Given the description of an element on the screen output the (x, y) to click on. 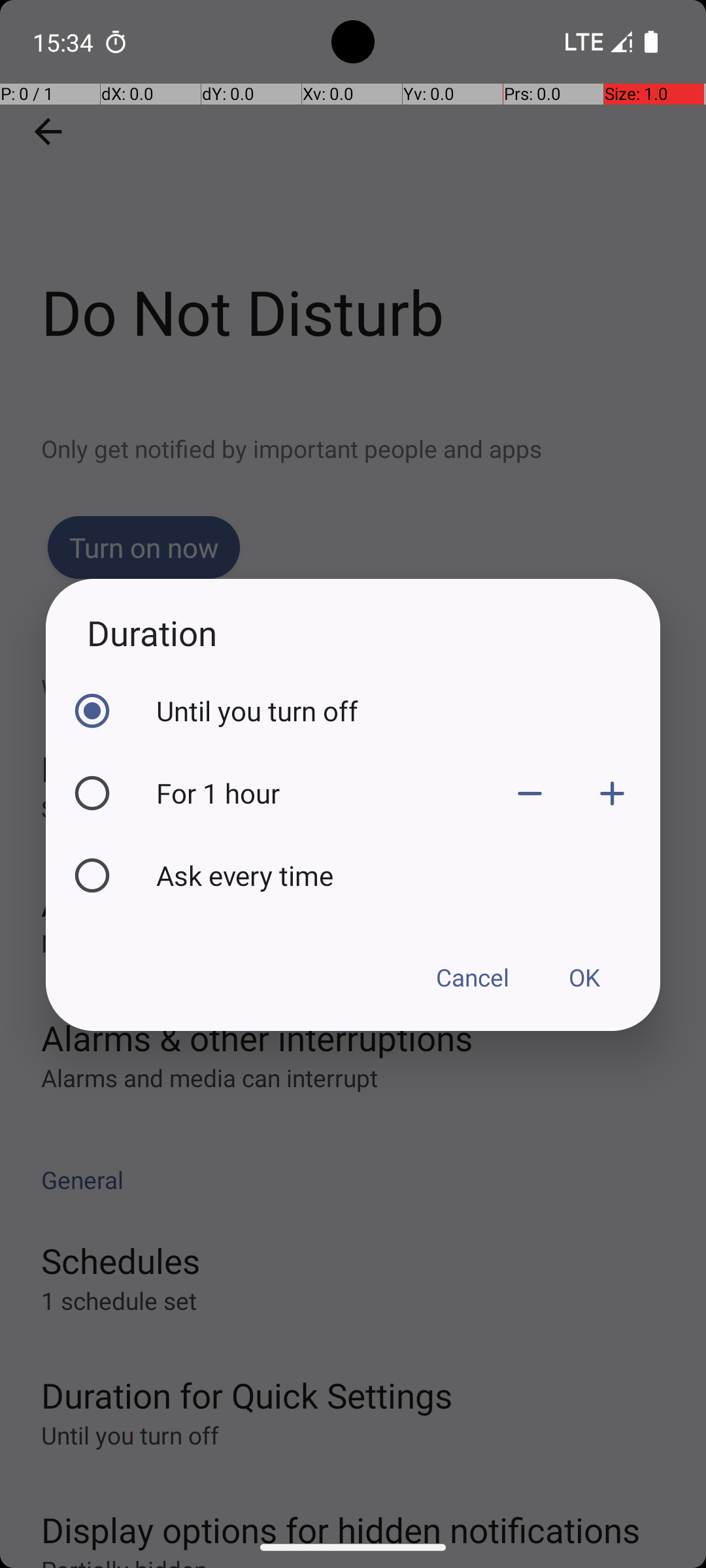
Duration Element type: android.widget.TextView (352, 632)
Less time. Element type: android.widget.ImageView (529, 792)
More time. Element type: android.widget.ImageView (611, 792)
Until you turn off Element type: android.widget.TextView (404, 710)
For 1 hour Element type: android.widget.TextView (322, 792)
Ask every time Element type: android.widget.TextView (404, 874)
